Given the description of an element on the screen output the (x, y) to click on. 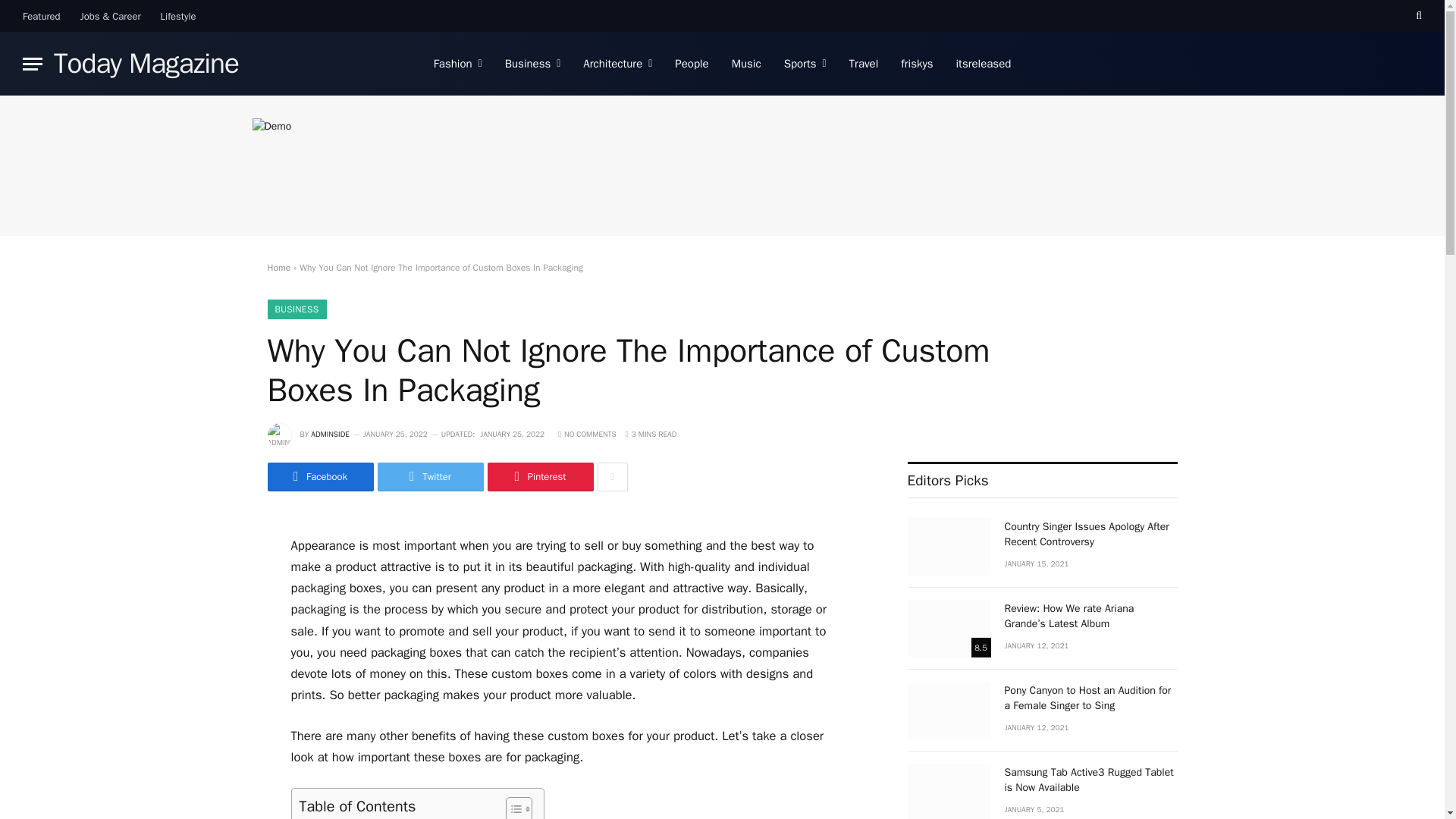
Lifestyle (178, 15)
Architecture (617, 63)
Posts by adminside (330, 433)
Share on Facebook (319, 476)
Business (532, 63)
Featured (41, 15)
Fashion (457, 63)
Sports (805, 63)
itsreleased (983, 63)
Today Magazine (145, 63)
Share on Pinterest (539, 476)
Today Magazine (145, 63)
Show More Social Sharing (611, 476)
